Given the description of an element on the screen output the (x, y) to click on. 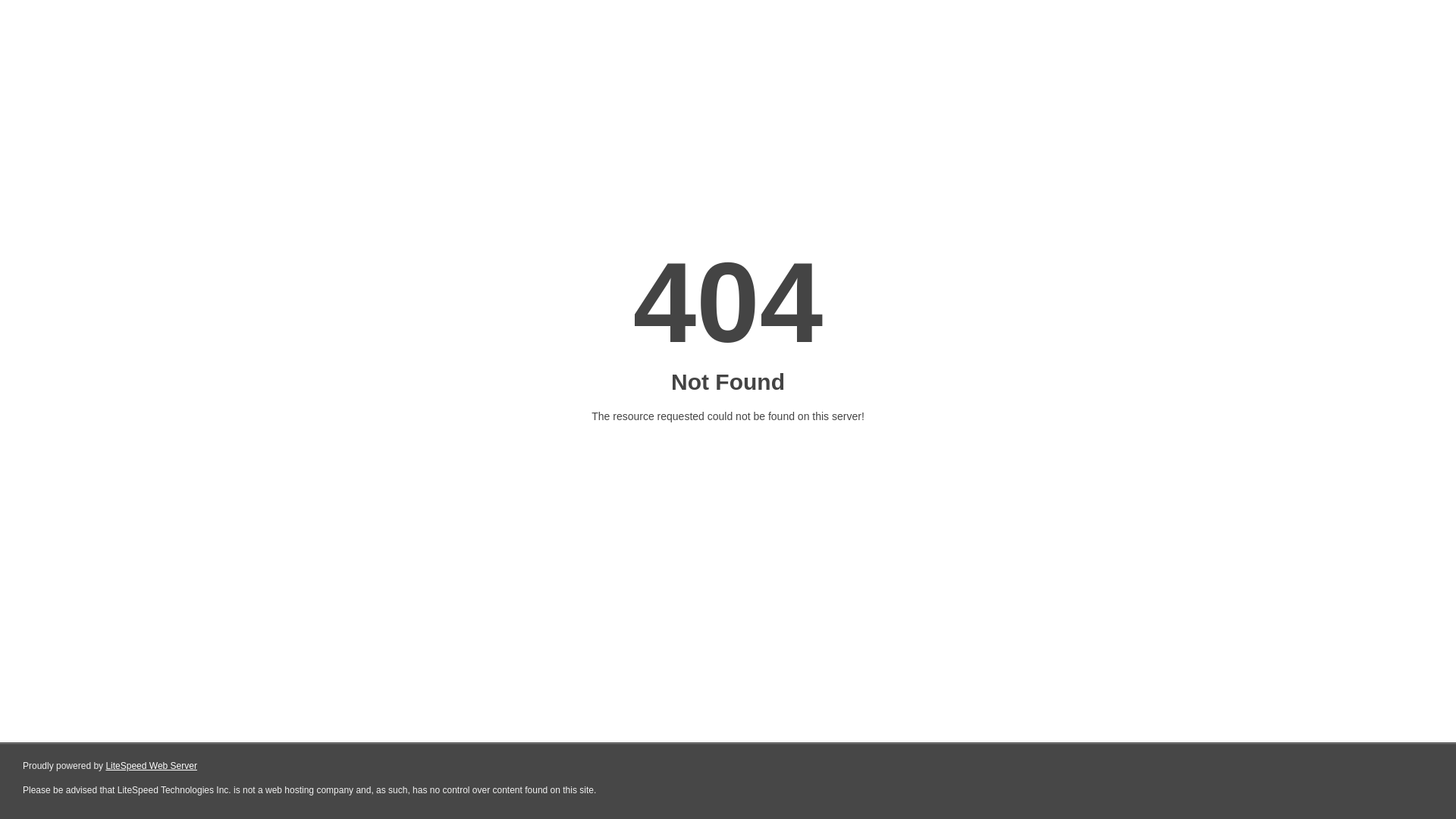
LiteSpeed Web Server Element type: text (151, 765)
